Given the description of an element on the screen output the (x, y) to click on. 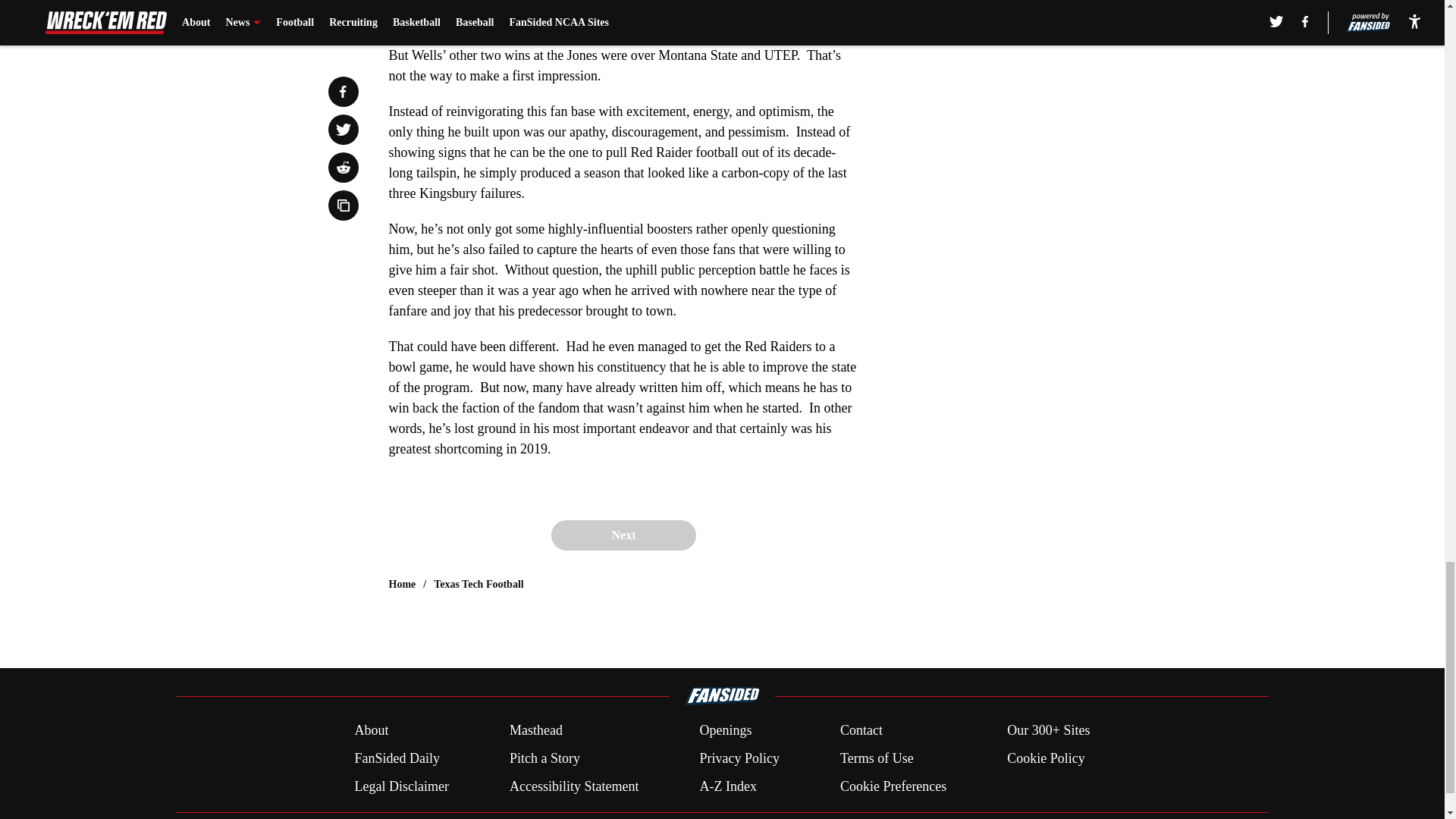
Openings (724, 730)
Next (622, 535)
Home (401, 584)
Contact (861, 730)
Masthead (535, 730)
FanSided Daily (396, 758)
Texas Tech Football (478, 584)
About (370, 730)
